Given the description of an element on the screen output the (x, y) to click on. 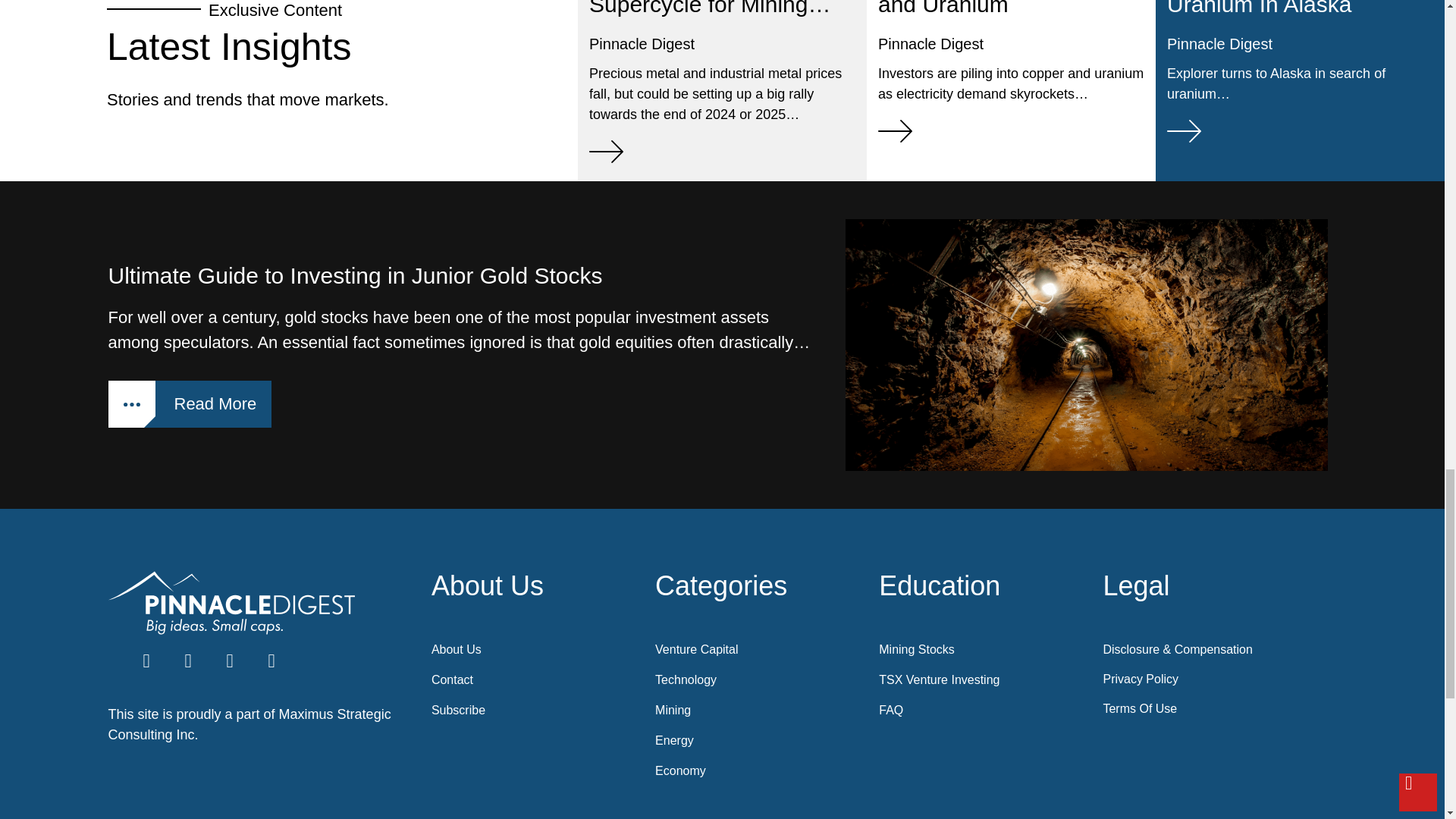
Still Waiting for the Supercycle for Mining Stocks? (709, 22)
Investors Target Copper and Uranium (999, 8)
